Given the description of an element on the screen output the (x, y) to click on. 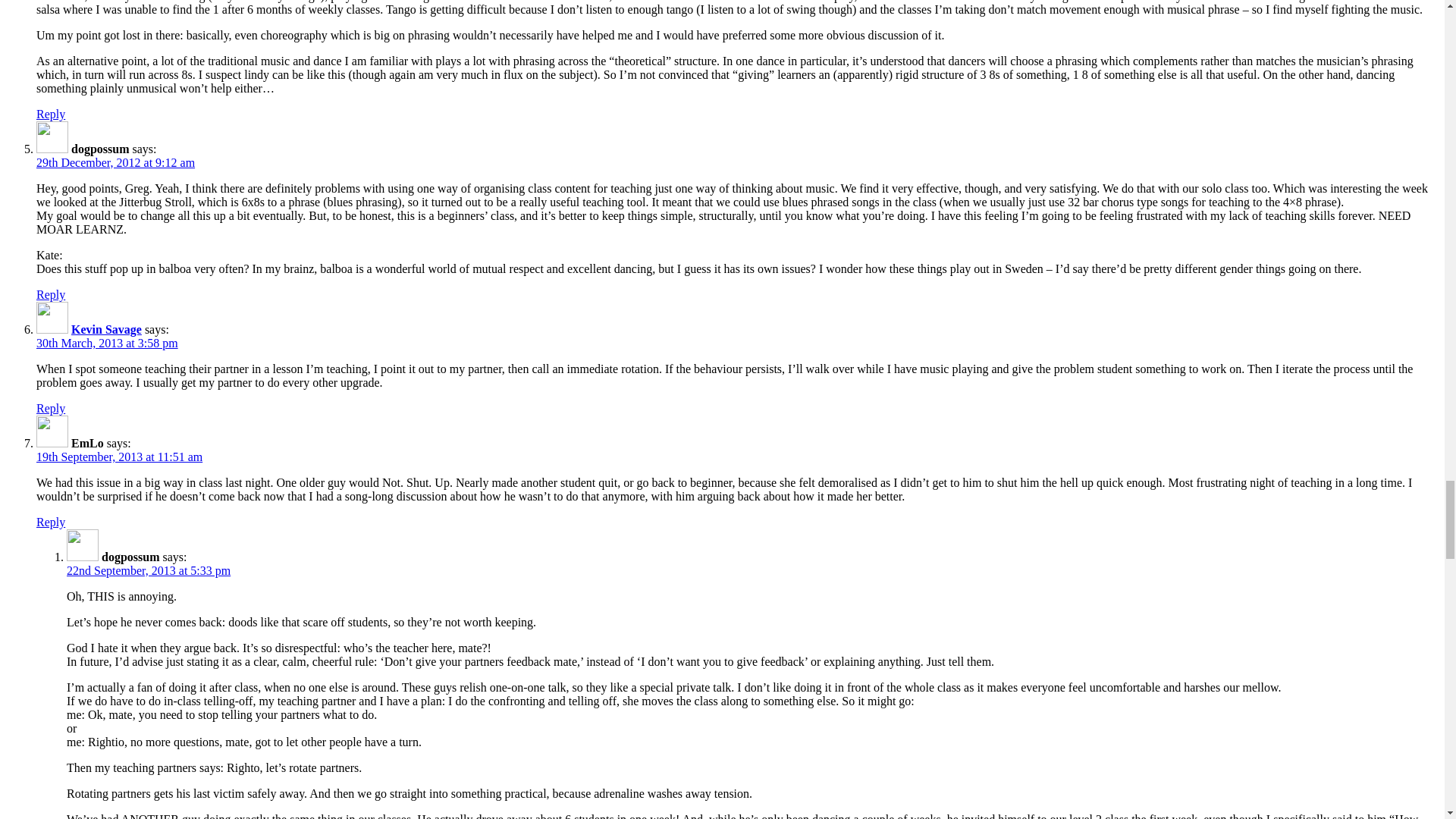
19th September, 2013 at 11:51 am (119, 456)
Reply (50, 294)
Reply (50, 113)
29th December, 2012 at 9:12 am (115, 162)
30th March, 2013 at 3:58 pm (106, 342)
Reply (50, 521)
Kevin Savage (106, 328)
Reply (50, 408)
